Given the description of an element on the screen output the (x, y) to click on. 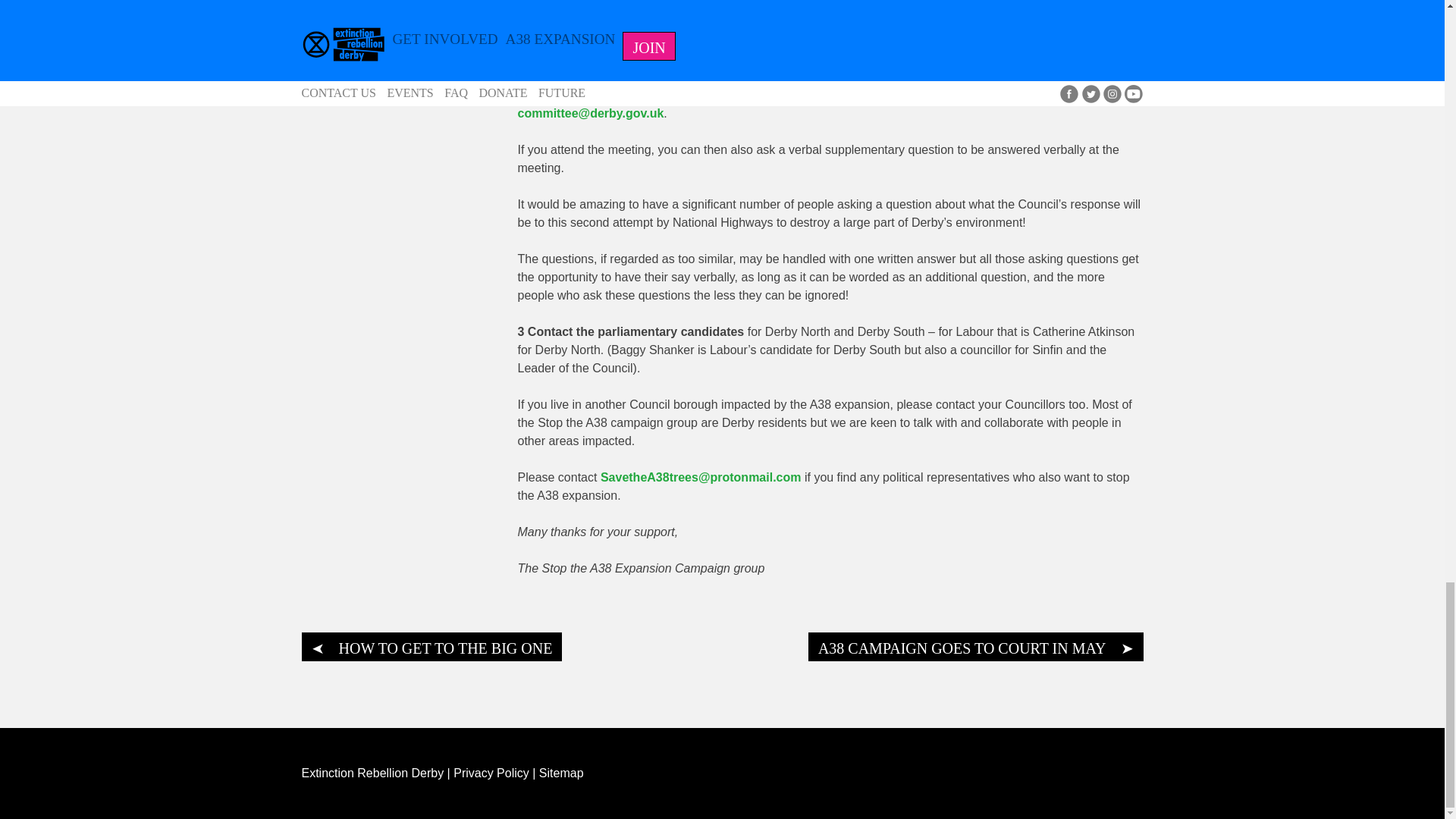
Sitemap (560, 772)
HOW TO GET TO THE BIG ONE (431, 646)
Privacy Policy (492, 772)
Extinction Rebellion Derby (373, 772)
A38 CAMPAIGN GOES TO COURT IN MAY (975, 646)
